Given the description of an element on the screen output the (x, y) to click on. 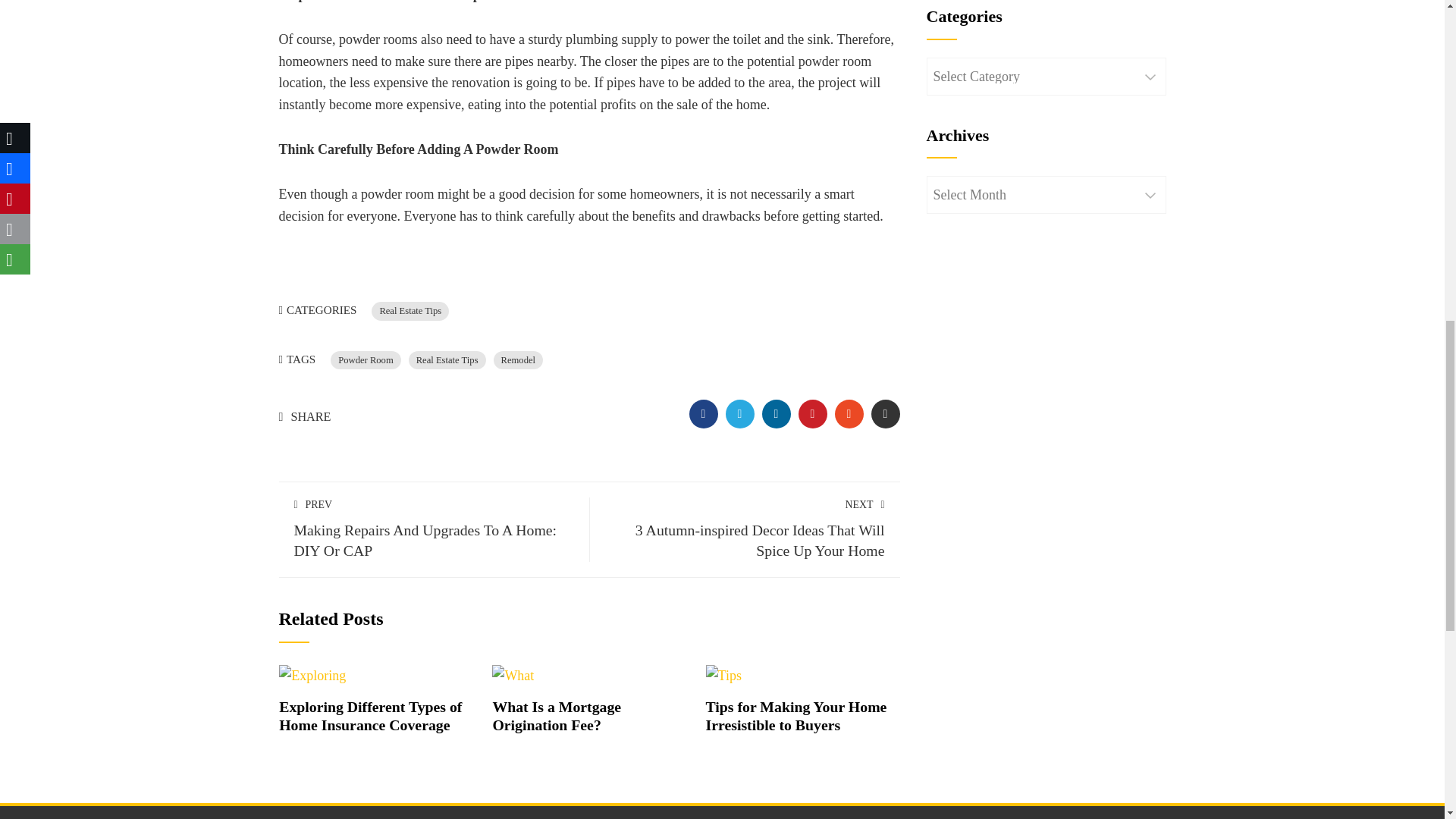
Real Estate Tips (409, 311)
Tips for Making Your Home Irresistible to Buyers (434, 527)
Exploring Different Types of Home Insurance Coverage (796, 715)
Tips for Making Your Home Irresistible to Buyers (370, 715)
What Is a Mortgage Origination Fee? (796, 715)
Remodel (556, 715)
FACEBOOK (518, 360)
PINTEREST (702, 413)
EMAIL (812, 413)
Exploring Different Types of Home Insurance Coverage (884, 413)
Real Estate Tips (370, 715)
TWITTER (447, 360)
Tips for Making Your Home Irresistible to Buyers (739, 413)
